Given the description of an element on the screen output the (x, y) to click on. 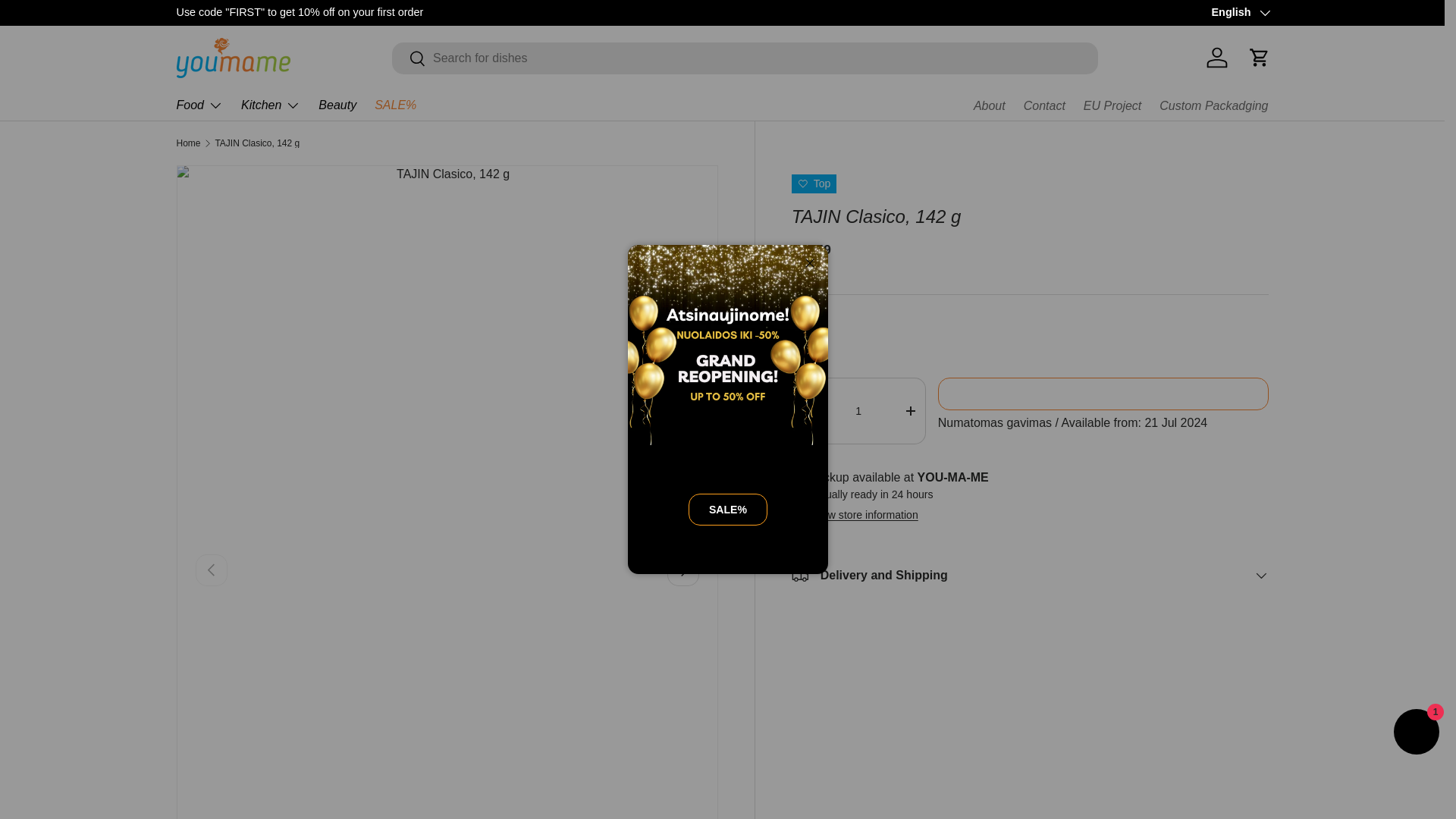
English (1239, 12)
Food (199, 105)
Shopify online store chat (1416, 733)
Search (408, 58)
Log in (1216, 57)
Cart (1258, 57)
Skip to content (68, 21)
1 (858, 410)
